Given the description of an element on the screen output the (x, y) to click on. 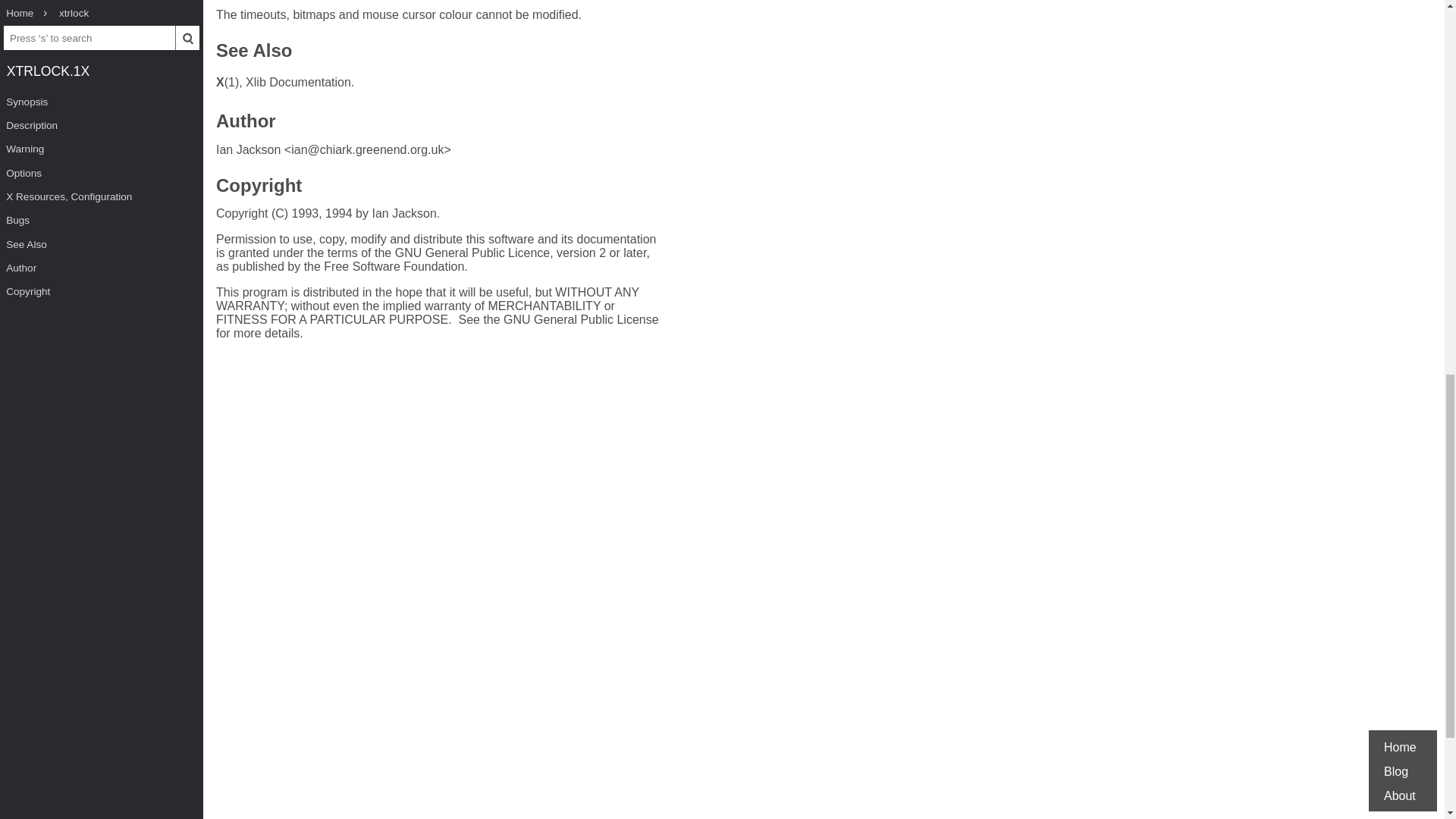
Author (245, 123)
Copyright (258, 187)
See Also (253, 51)
